Given the description of an element on the screen output the (x, y) to click on. 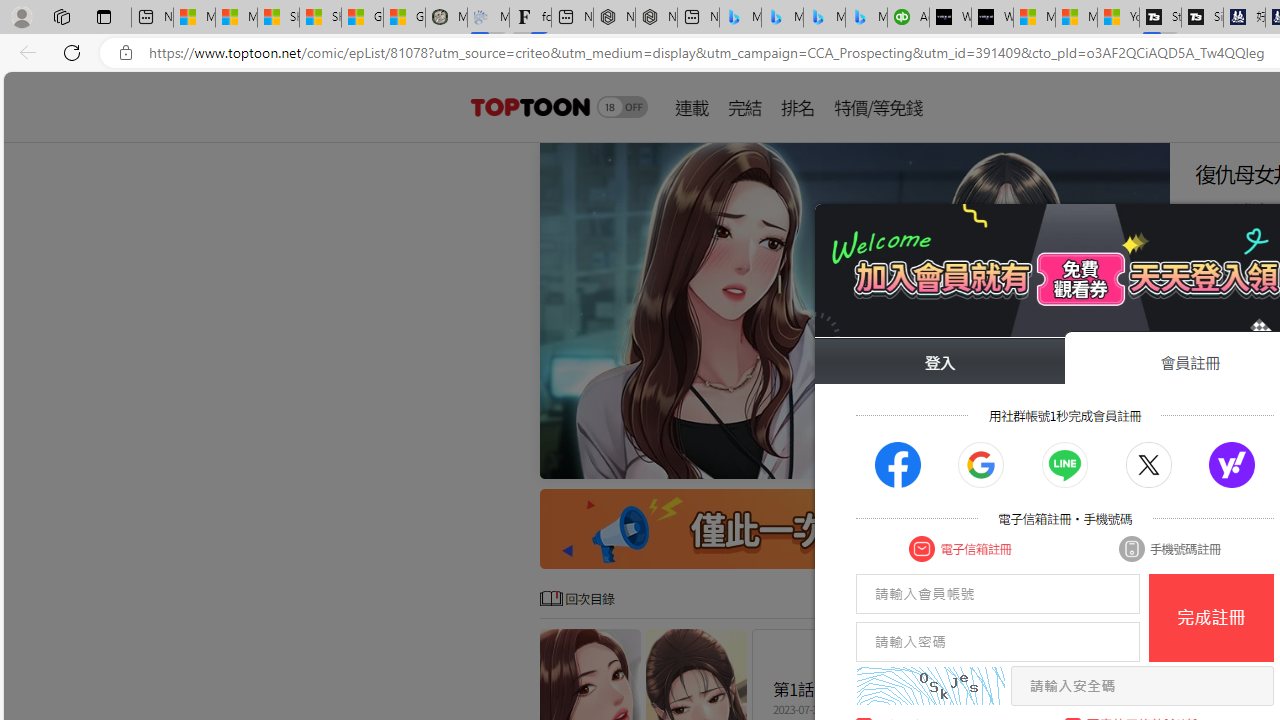
Gilma and Hector both pose tropical trouble for Hawaii (404, 17)
Class: swiper-slide (854, 310)
To get missing image descriptions, open the context menu. (854, 310)
Manatee Mortality Statistics | FWC (446, 17)
